Given the description of an element on the screen output the (x, y) to click on. 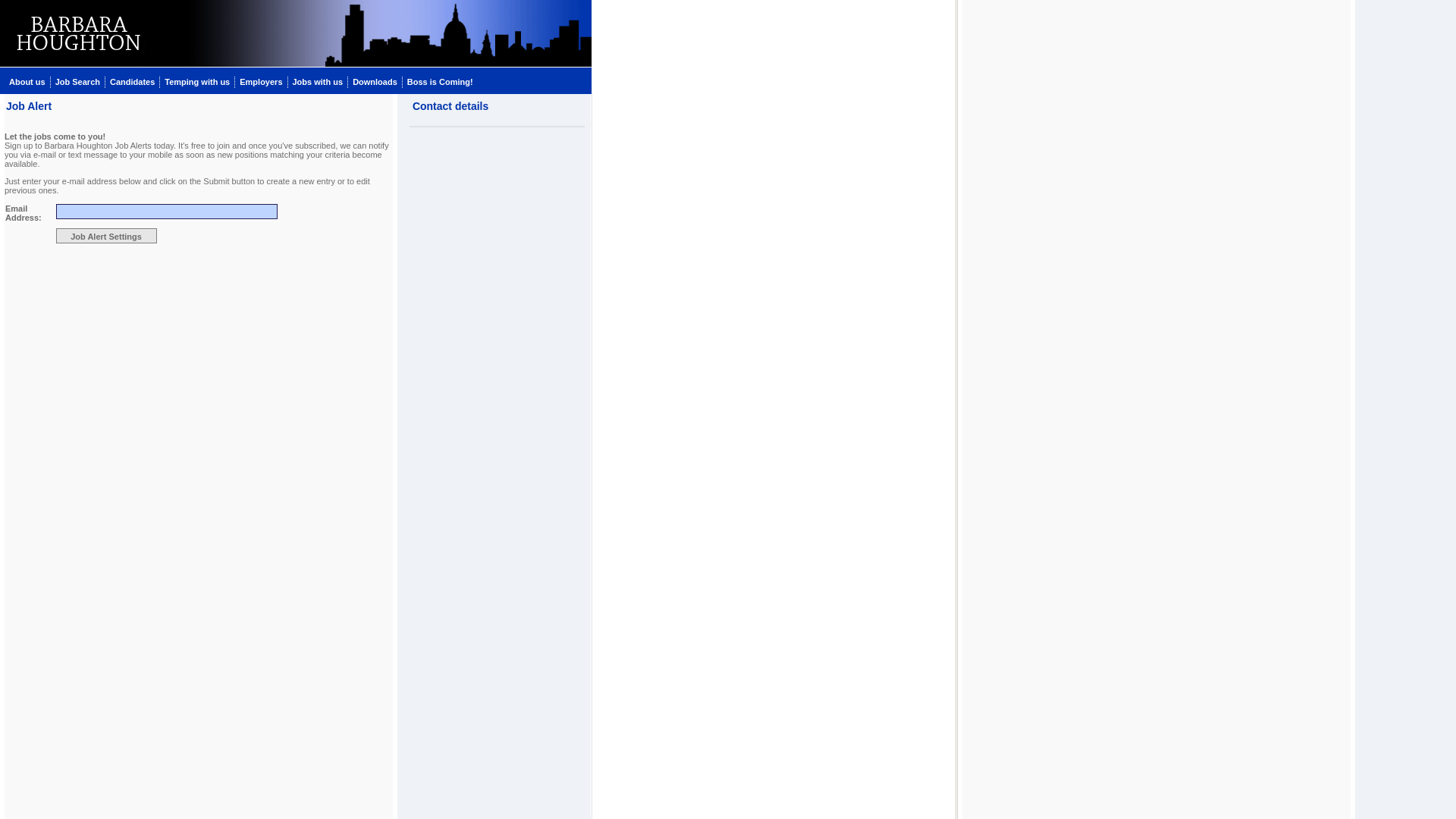
About us (26, 80)
Employers (260, 80)
Jobs with us (317, 80)
Job Alert Settings (106, 235)
Candidates (131, 80)
Temping with us (197, 80)
Job Alert Settings (106, 235)
Downloads (374, 80)
Job Search (77, 80)
Boss is Coming! (440, 80)
